Given the description of an element on the screen output the (x, y) to click on. 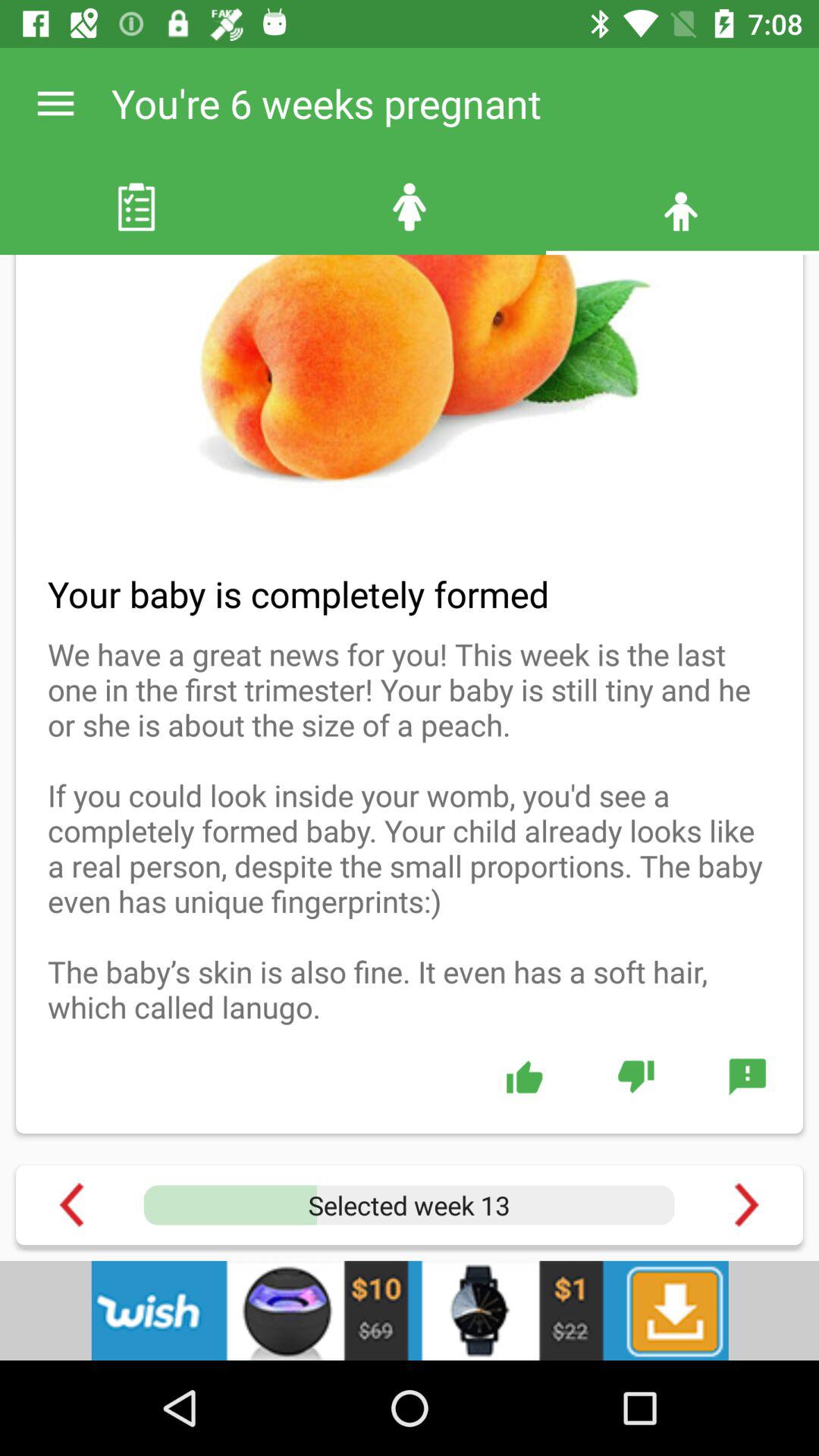
wish advertisement (409, 1310)
